Given the description of an element on the screen output the (x, y) to click on. 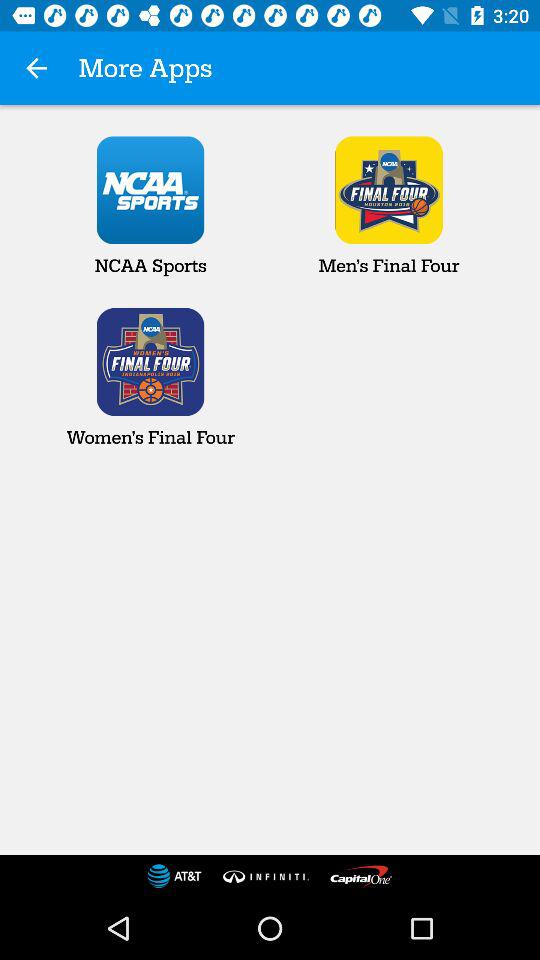
swipe until the ncaa sports icon (150, 206)
